Given the description of an element on the screen output the (x, y) to click on. 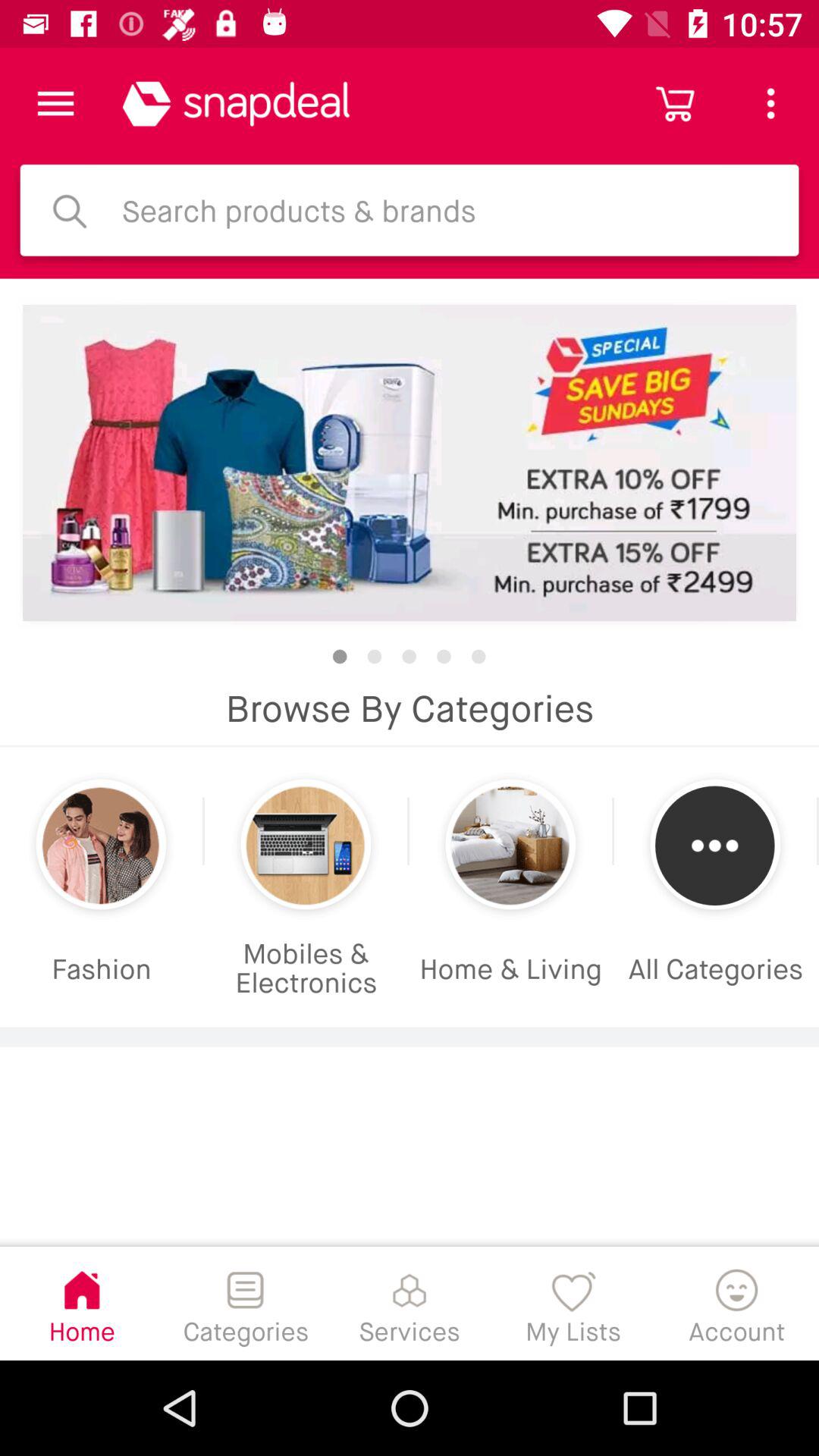
swipe to the my lists icon (573, 1303)
